Given the description of an element on the screen output the (x, y) to click on. 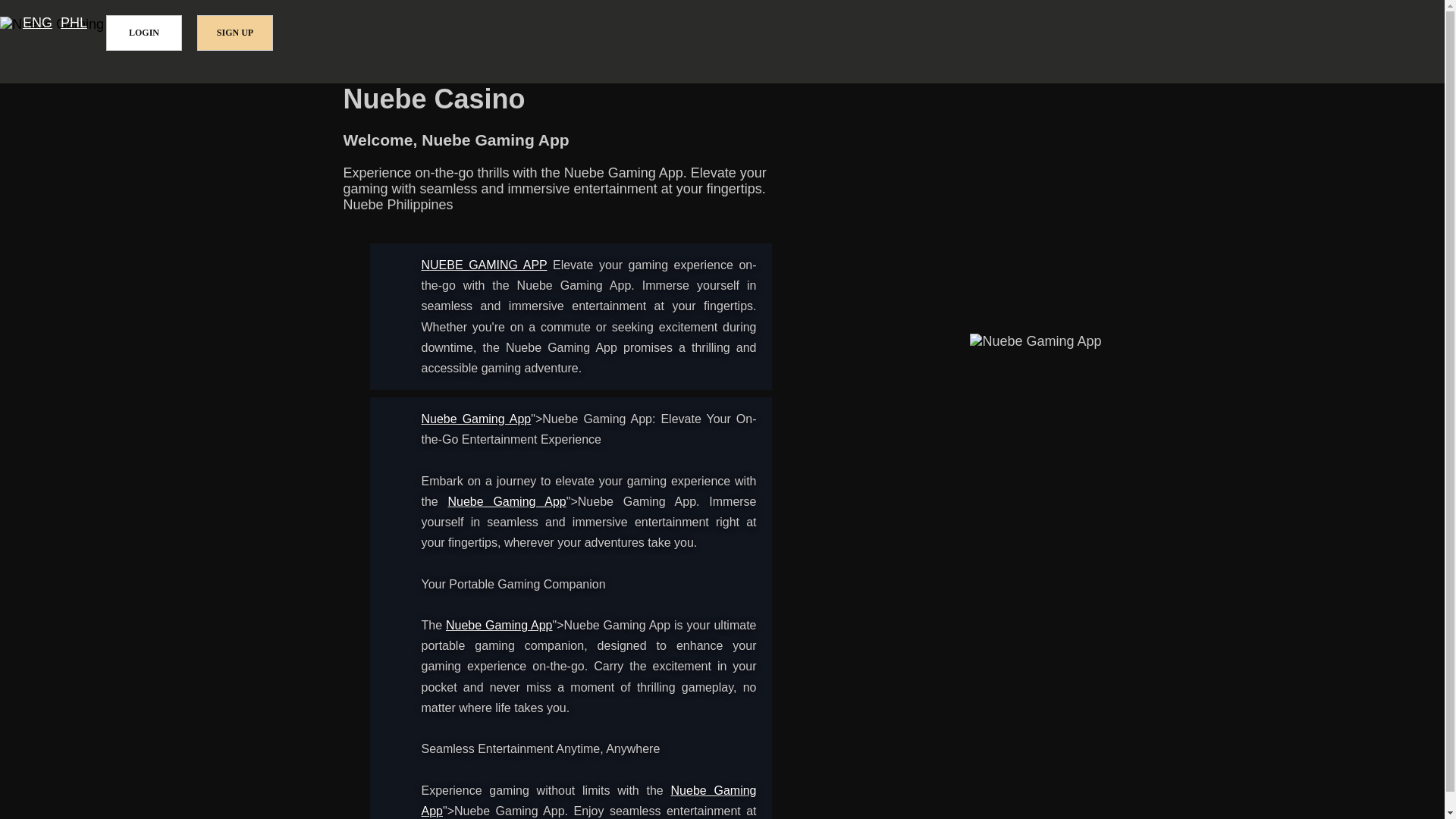
Nuebe Gaming App (506, 501)
ENG (37, 23)
LOGIN (144, 32)
Nuebe Gaming App (589, 800)
Nuebe Gaming App (476, 418)
Nuebe Gaming App (484, 264)
English (37, 23)
SIGN UP (234, 32)
Filipino (74, 23)
NUEBE GAMING APP (484, 264)
Nuebe Gaming App (499, 625)
PHL (74, 23)
